Given the description of an element on the screen output the (x, y) to click on. 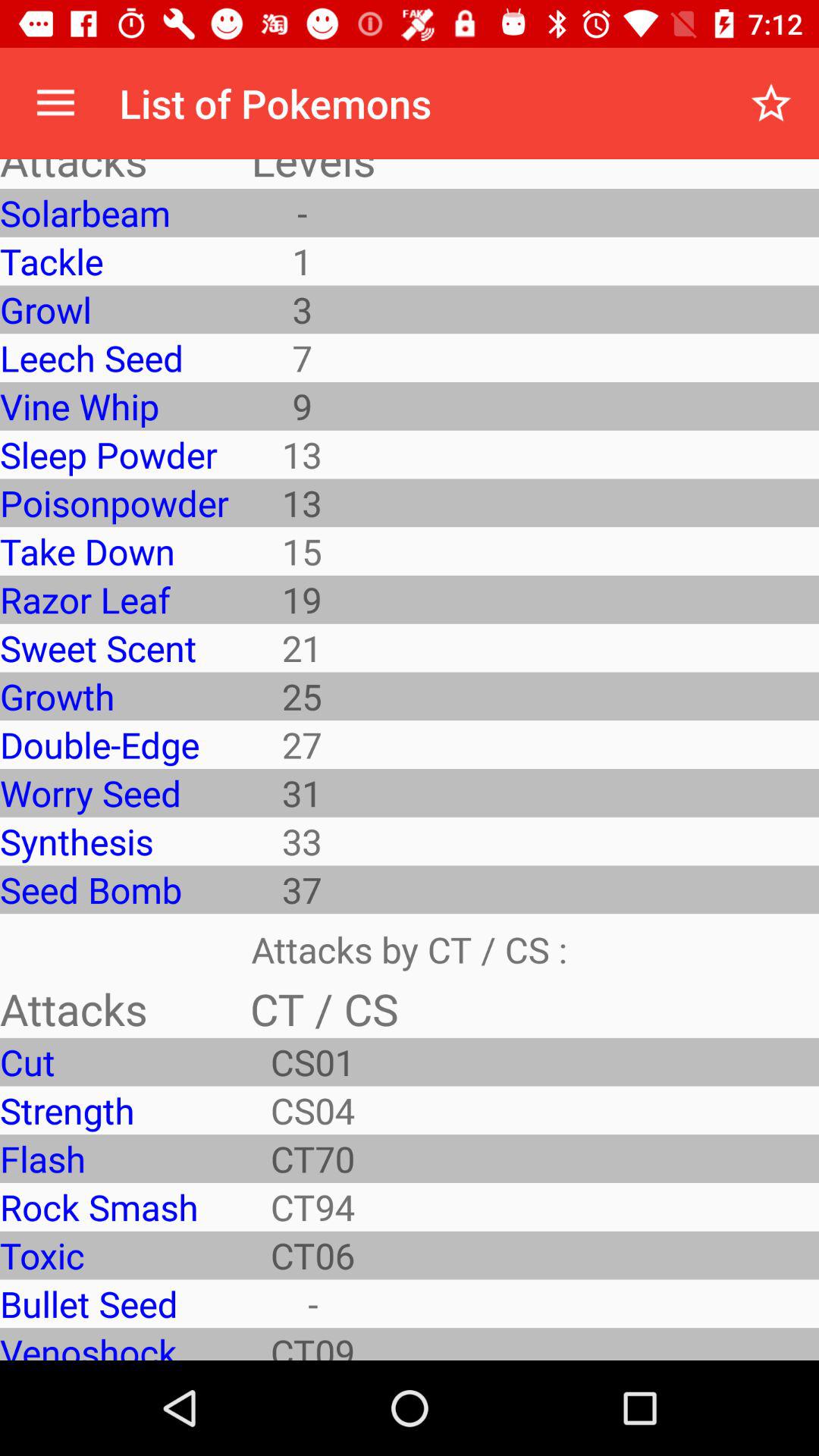
launch the take down item (114, 551)
